Given the description of an element on the screen output the (x, y) to click on. 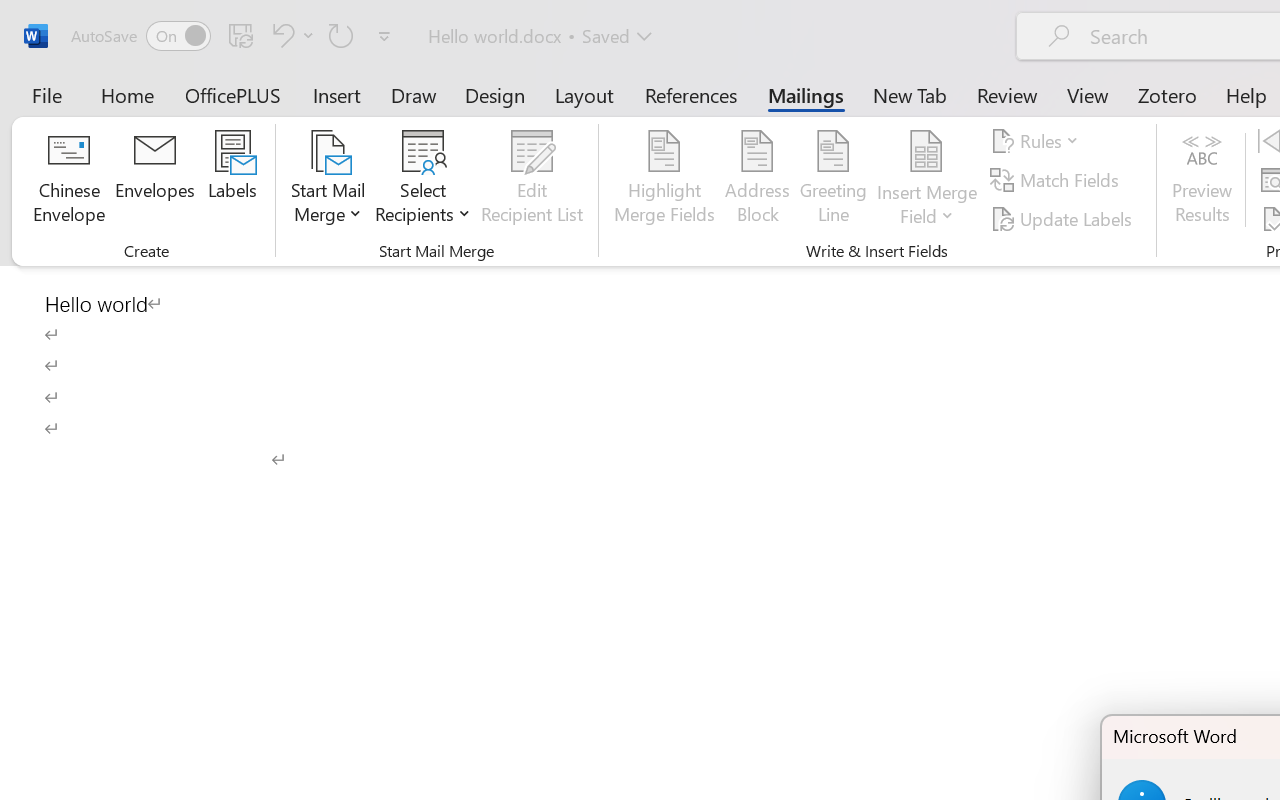
More Options (927, 208)
Edit Recipient List... (532, 179)
Update Labels (1064, 218)
Design (495, 94)
References (690, 94)
Highlight Merge Fields (664, 179)
Mailings (806, 94)
Insert (337, 94)
Address Block... (757, 179)
Undo Click and Type Formatting (290, 35)
Greeting Line... (833, 179)
Undo Click and Type Formatting (280, 35)
Preview Results (1202, 179)
Envelopes... (155, 179)
